Given the description of an element on the screen output the (x, y) to click on. 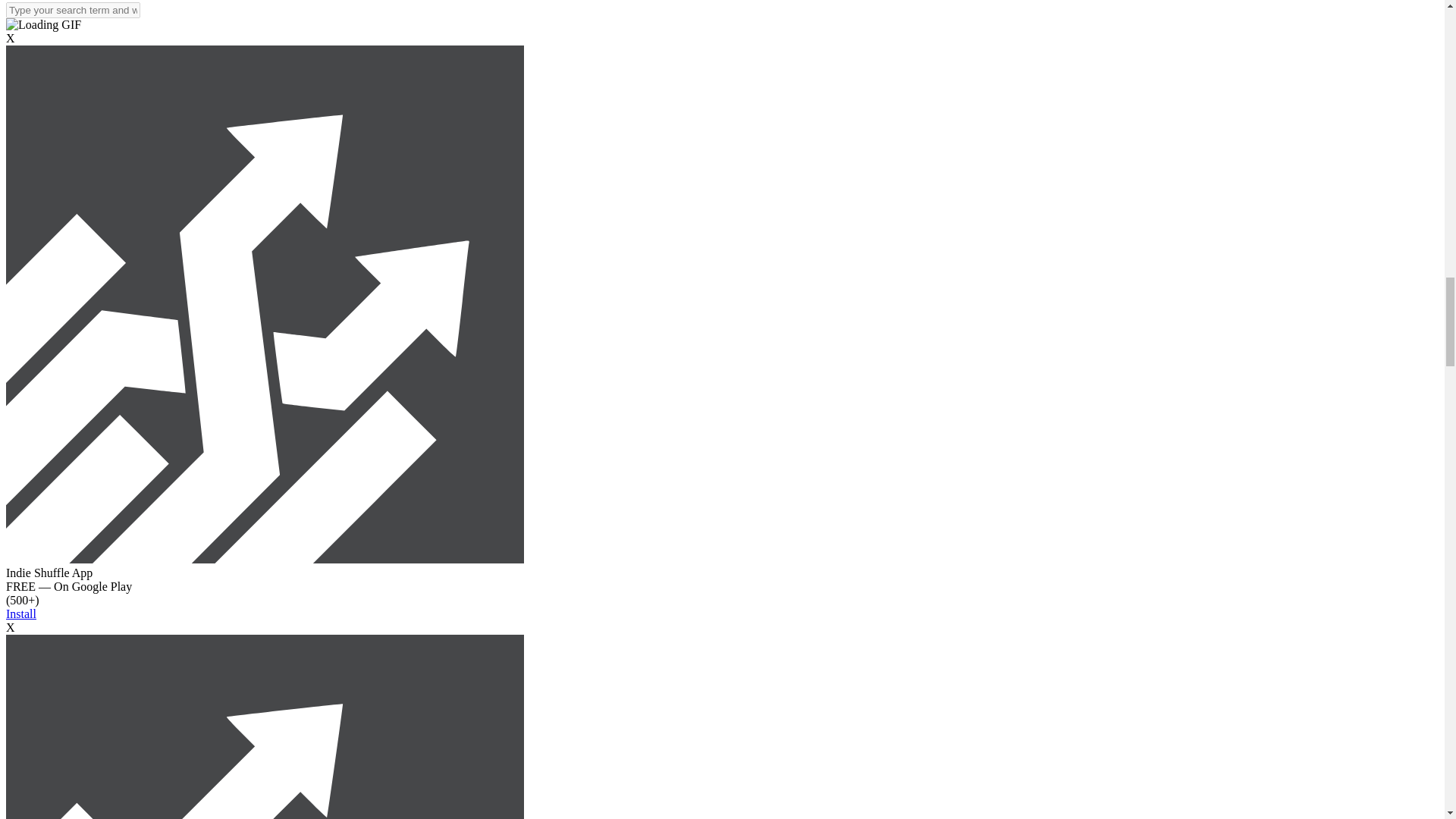
Install Android App (264, 558)
